Given the description of an element on the screen output the (x, y) to click on. 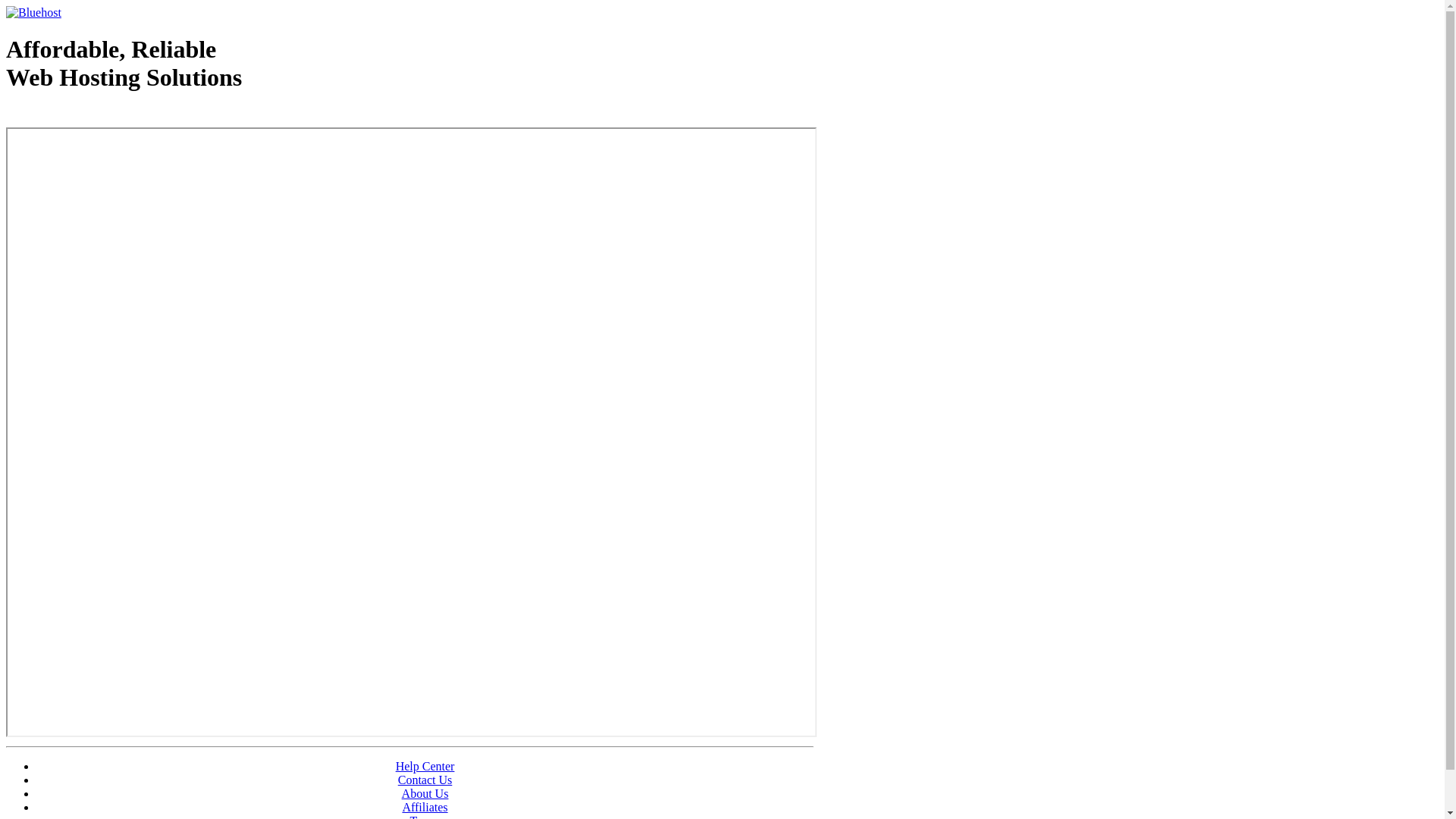
About Us Element type: text (424, 793)
Affiliates Element type: text (424, 806)
Contact Us Element type: text (425, 779)
Web Hosting - courtesy of www.bluehost.com Element type: text (94, 115)
Help Center Element type: text (425, 765)
